Given the description of an element on the screen output the (x, y) to click on. 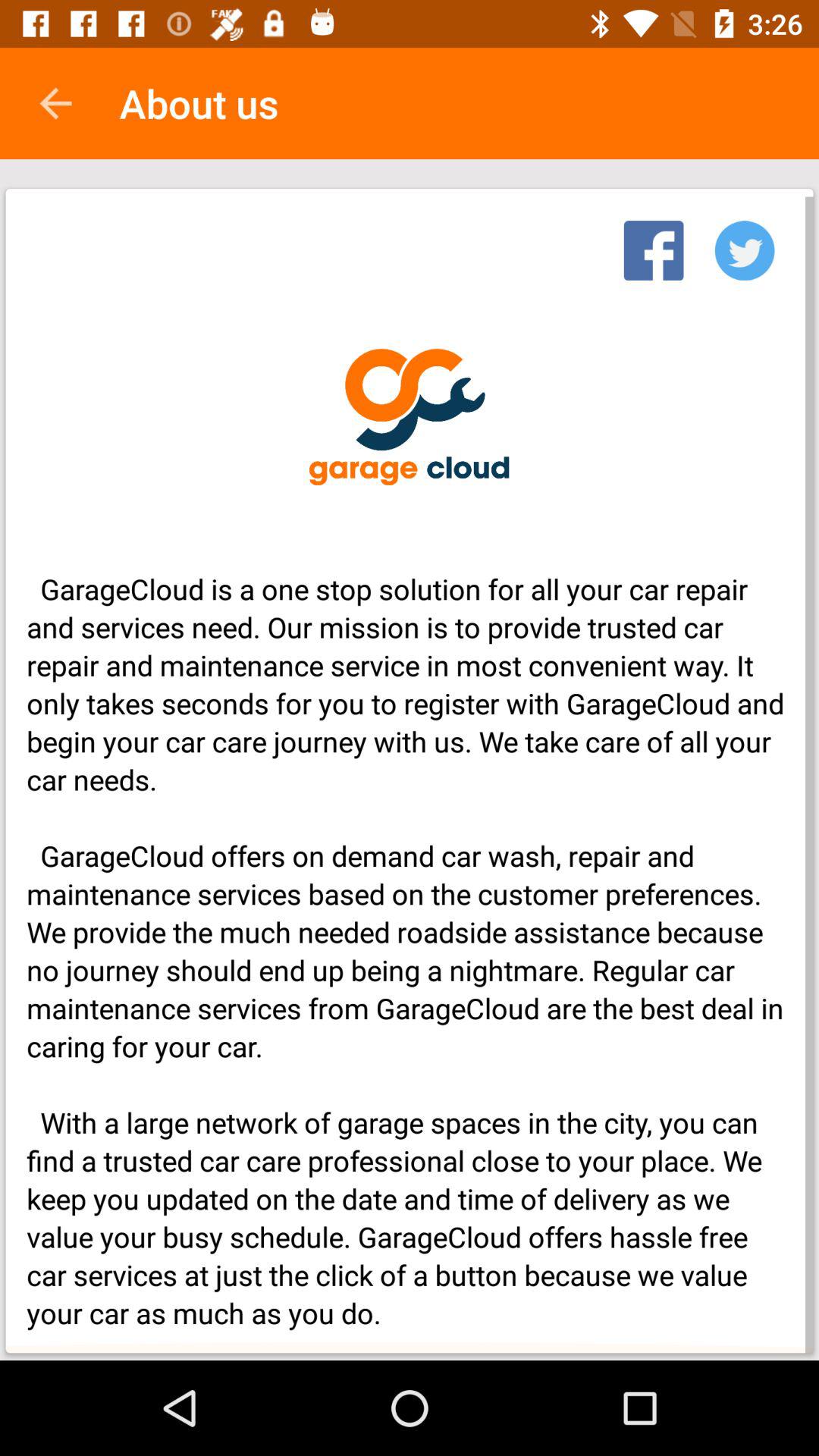
press the item next to about us icon (55, 103)
